Given the description of an element on the screen output the (x, y) to click on. 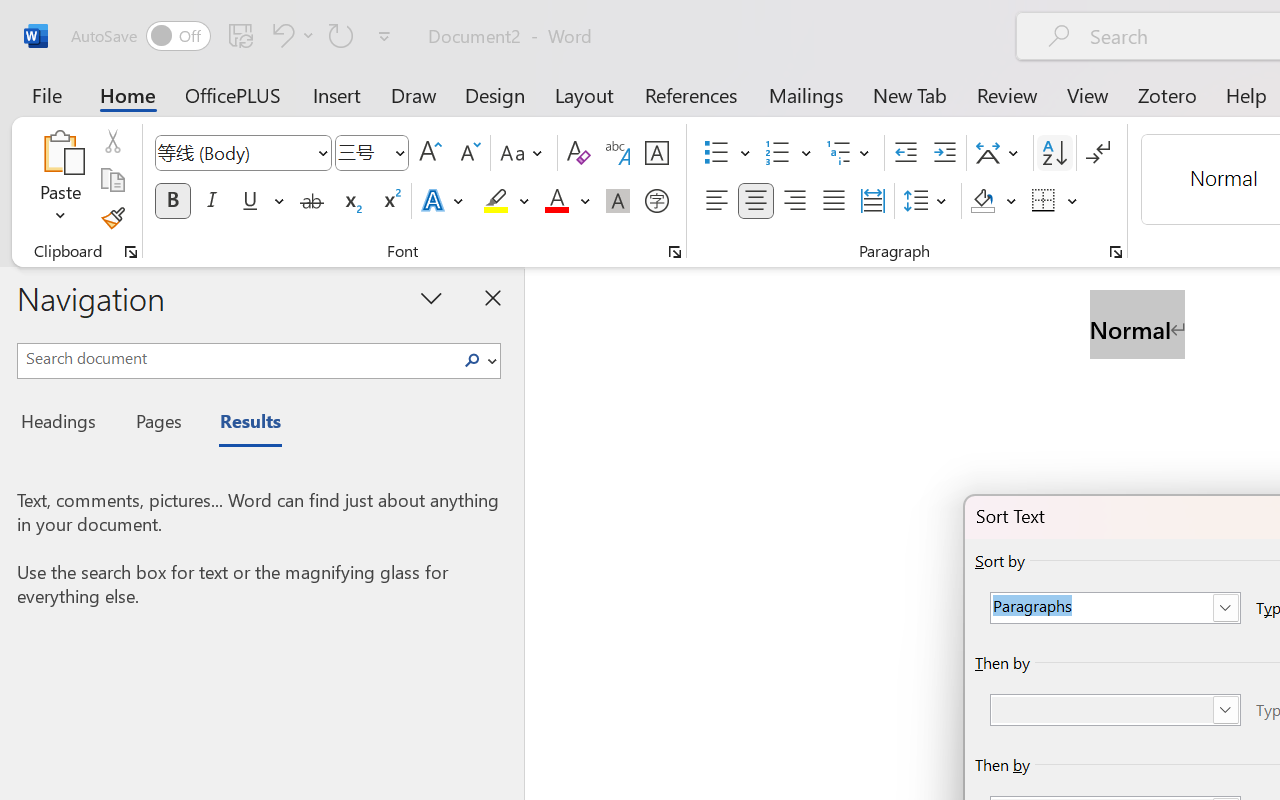
Class: NetUIImage (471, 360)
Bold (172, 201)
Center (756, 201)
Character Border (656, 153)
Text Highlight Color Yellow (495, 201)
Results (240, 424)
Zotero (1166, 94)
Borders (1044, 201)
Text Highlight Color (506, 201)
Open (399, 152)
RichEdit Control (1102, 709)
Home (127, 94)
Pages (156, 424)
Decrease Indent (906, 153)
